Given the description of an element on the screen output the (x, y) to click on. 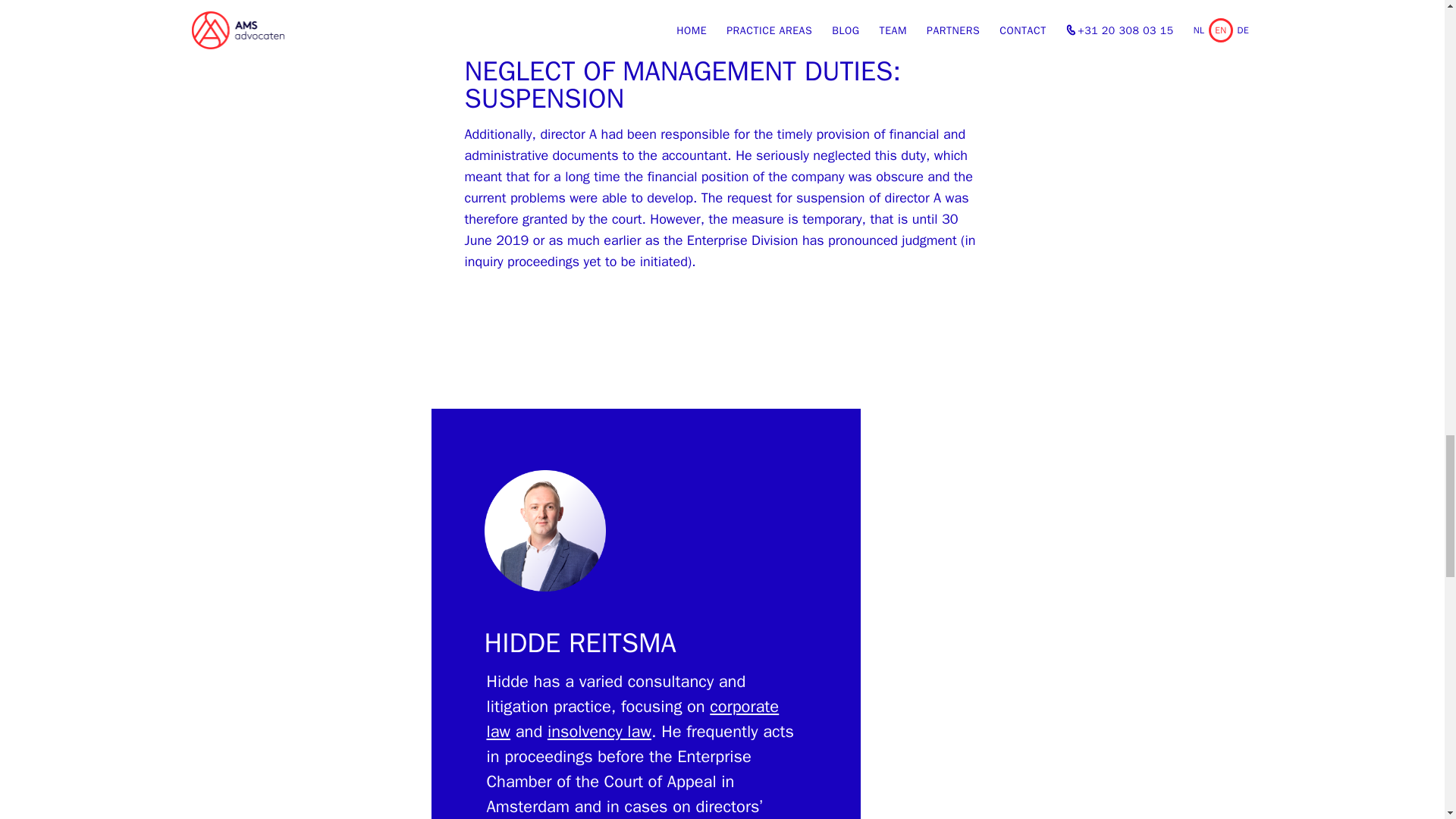
corporate law (632, 719)
HIDDE REITSMA (579, 642)
insolvency law (598, 731)
Insolvency law (598, 731)
Corporate law (632, 719)
